Given the description of an element on the screen output the (x, y) to click on. 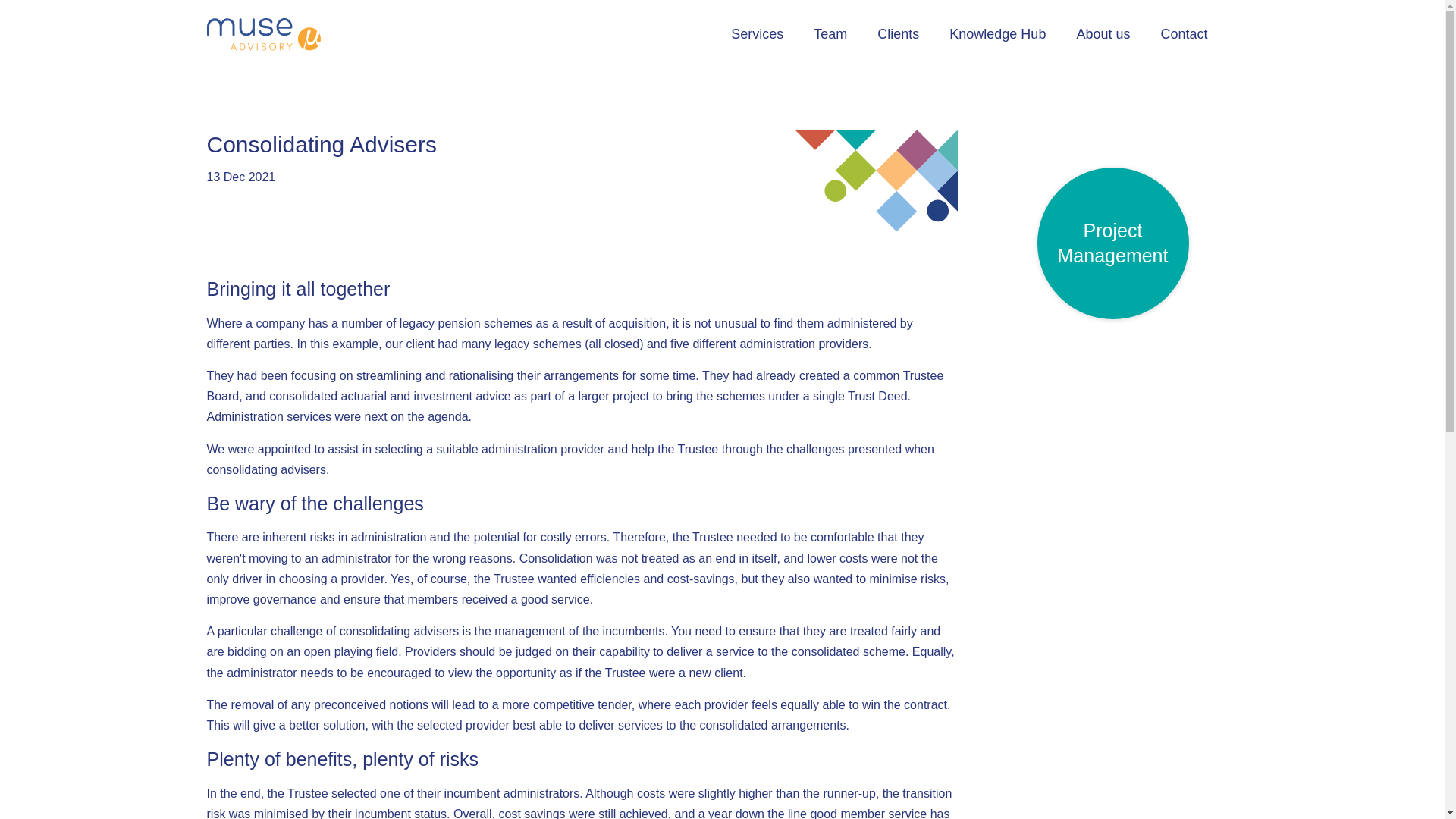
Muse Advisory (263, 34)
Team (829, 34)
Contact (1183, 34)
Clients (897, 34)
About us (1102, 34)
Project Management (1112, 243)
